Given the description of an element on the screen output the (x, y) to click on. 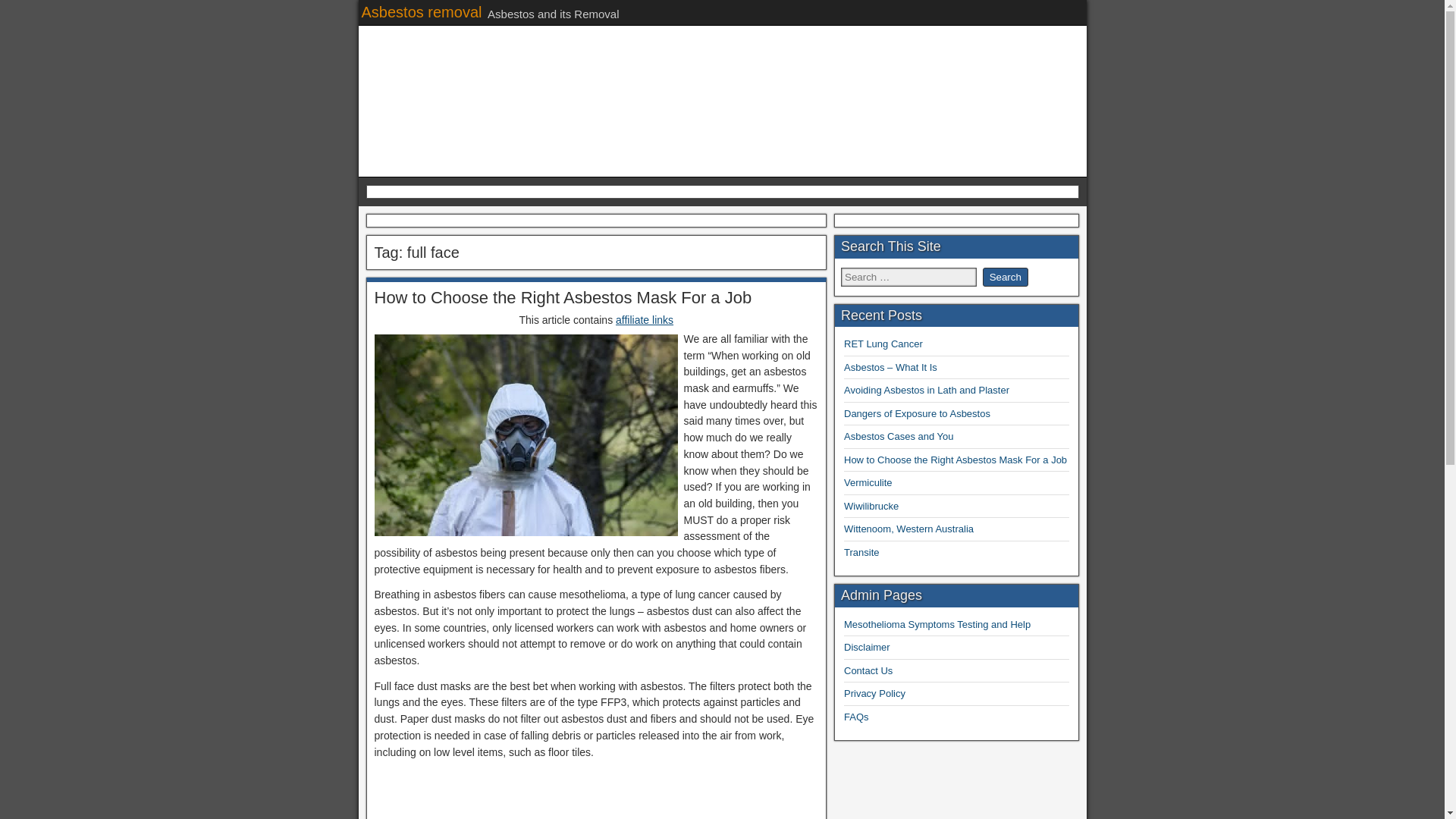
Contact Us (868, 670)
Mesothelioma Symptoms Testing and Help (937, 624)
affiliate links (643, 319)
RET Lung Cancer (883, 343)
Search (1004, 276)
Asbestos removal (421, 12)
How to Choose the Right Asbestos Mask For a Job (563, 297)
Transite (861, 552)
Asbestos Cases and You (898, 436)
Privacy Policy (874, 693)
Search (1004, 276)
Vermiculite (868, 482)
Dangers of Exposure to Asbestos (917, 413)
Disclaimer (866, 646)
Wittenoom, Western Australia (909, 528)
